Given the description of an element on the screen output the (x, y) to click on. 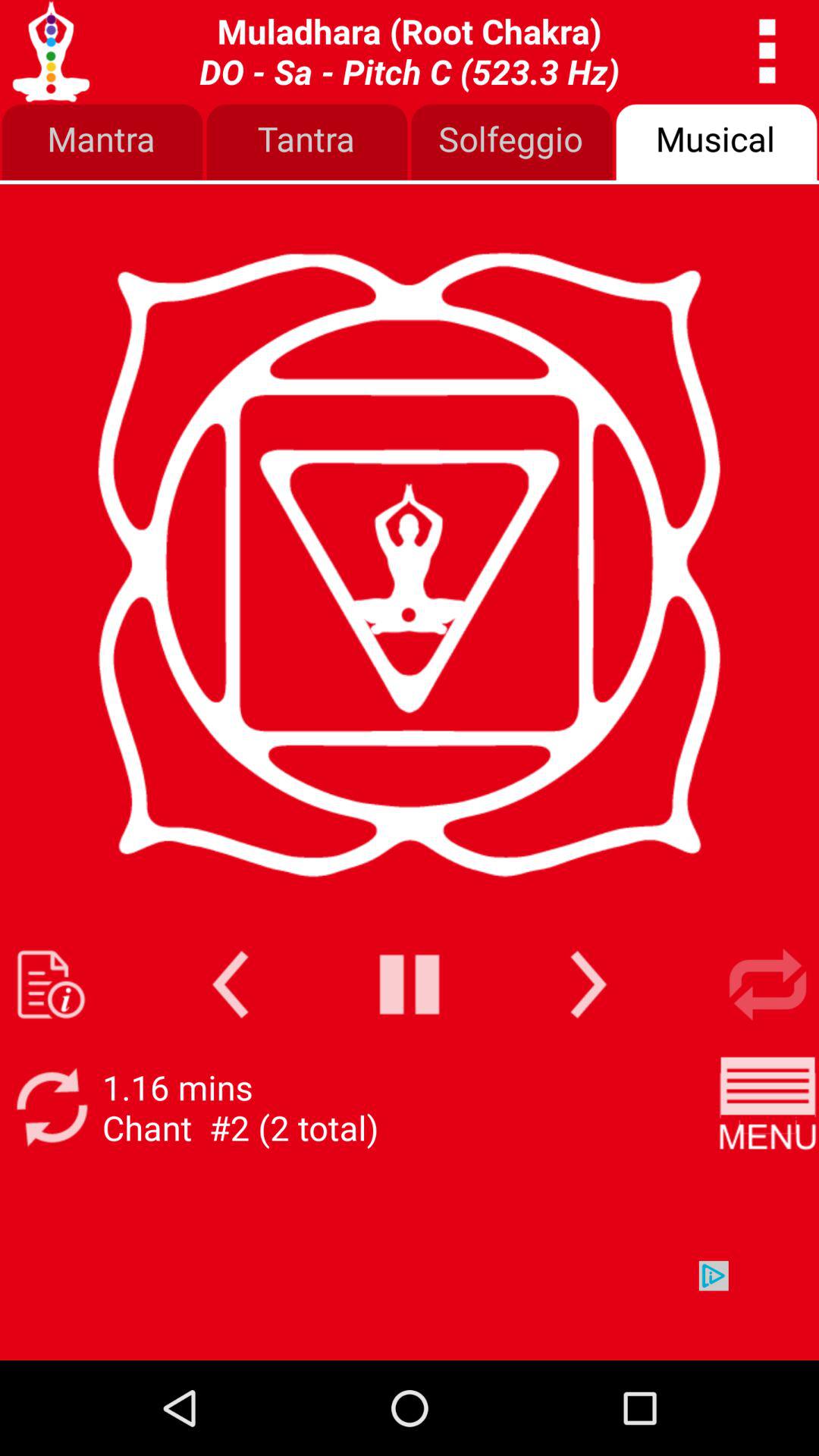
tap the icon next to musical item (511, 143)
